Given the description of an element on the screen output the (x, y) to click on. 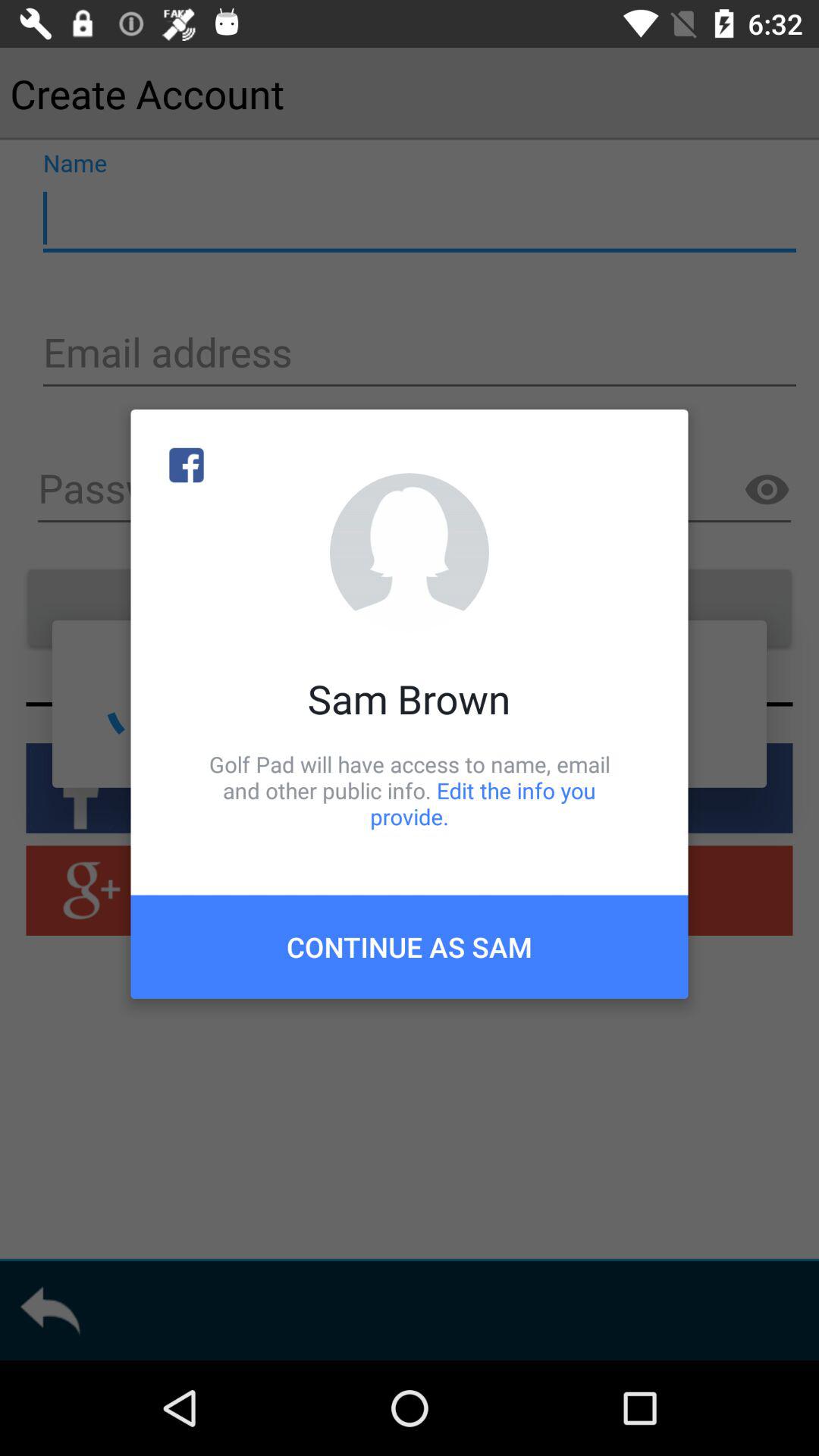
turn on icon below sam brown icon (409, 790)
